Given the description of an element on the screen output the (x, y) to click on. 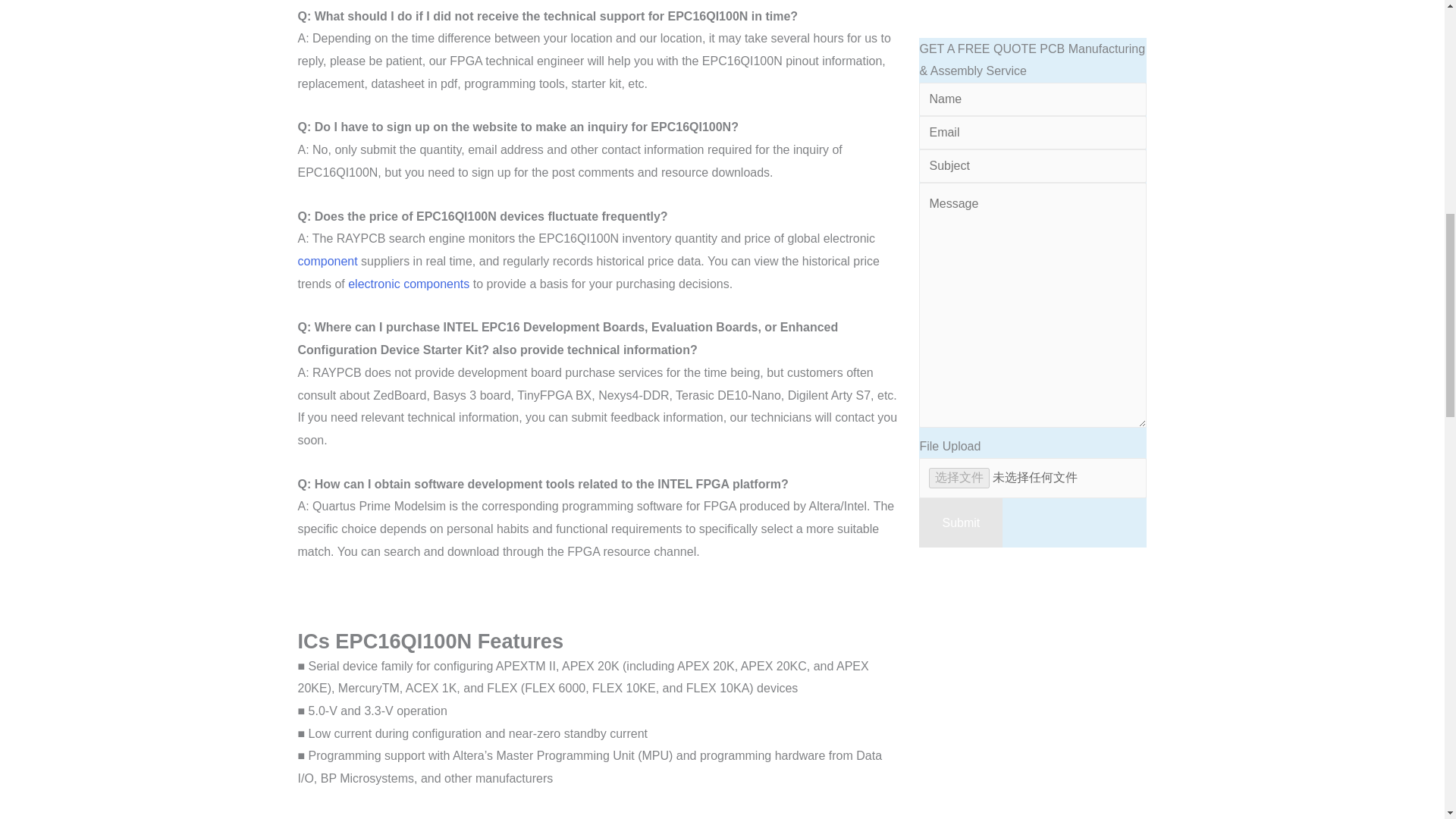
component (326, 260)
electronic components (407, 283)
